Given the description of an element on the screen output the (x, y) to click on. 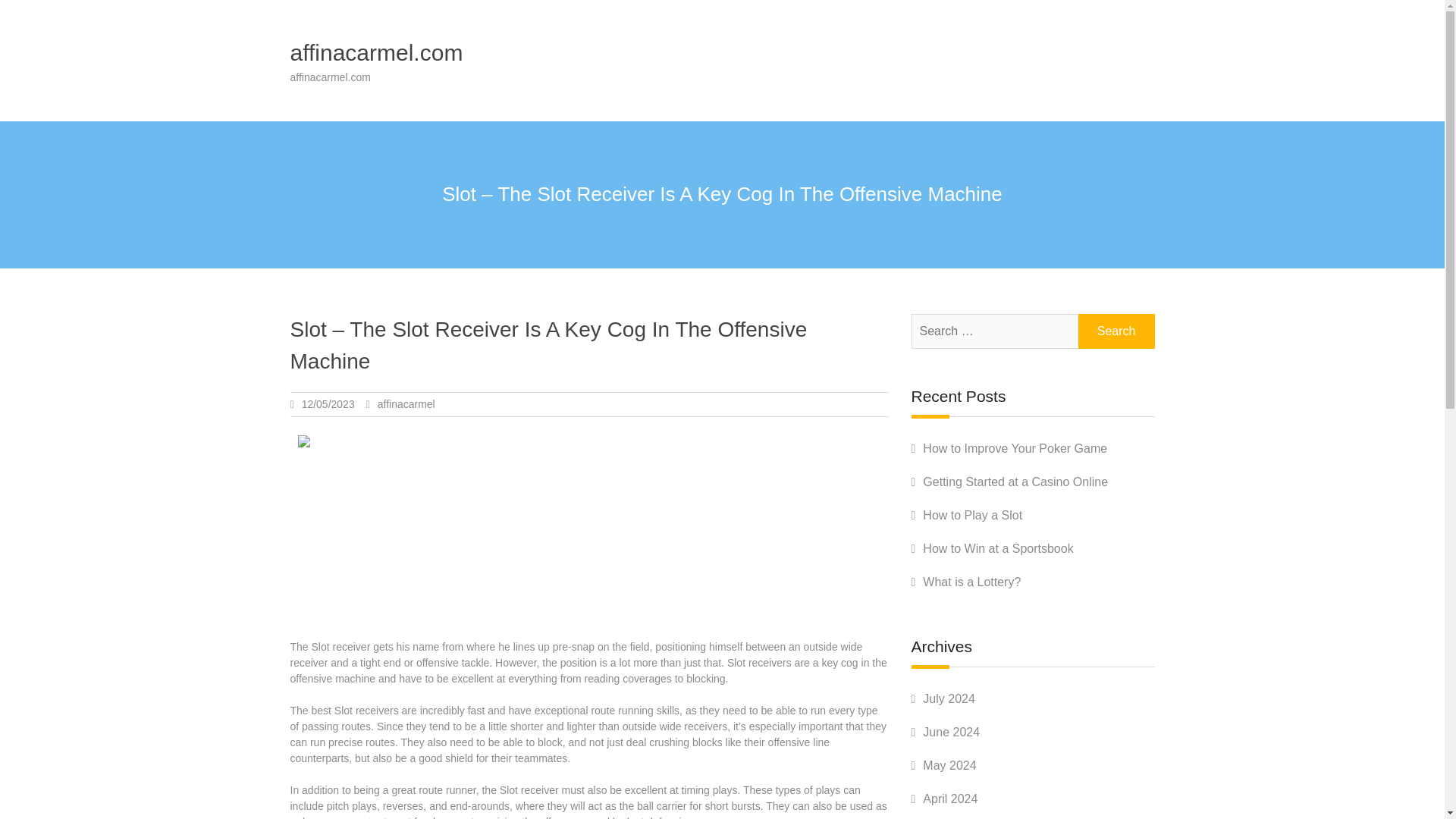
April 2024 (949, 798)
affinacarmel.com (376, 52)
Getting Started at a Casino Online (1015, 481)
June 2024 (951, 731)
July 2024 (949, 698)
Search (1116, 330)
What is a Lottery? (971, 581)
Search (1116, 330)
affinacarmel (406, 404)
How to Improve Your Poker Game (1014, 448)
Search (1116, 330)
How to Win at a Sportsbook (998, 548)
How to Play a Slot (972, 514)
May 2024 (949, 765)
